Given the description of an element on the screen output the (x, y) to click on. 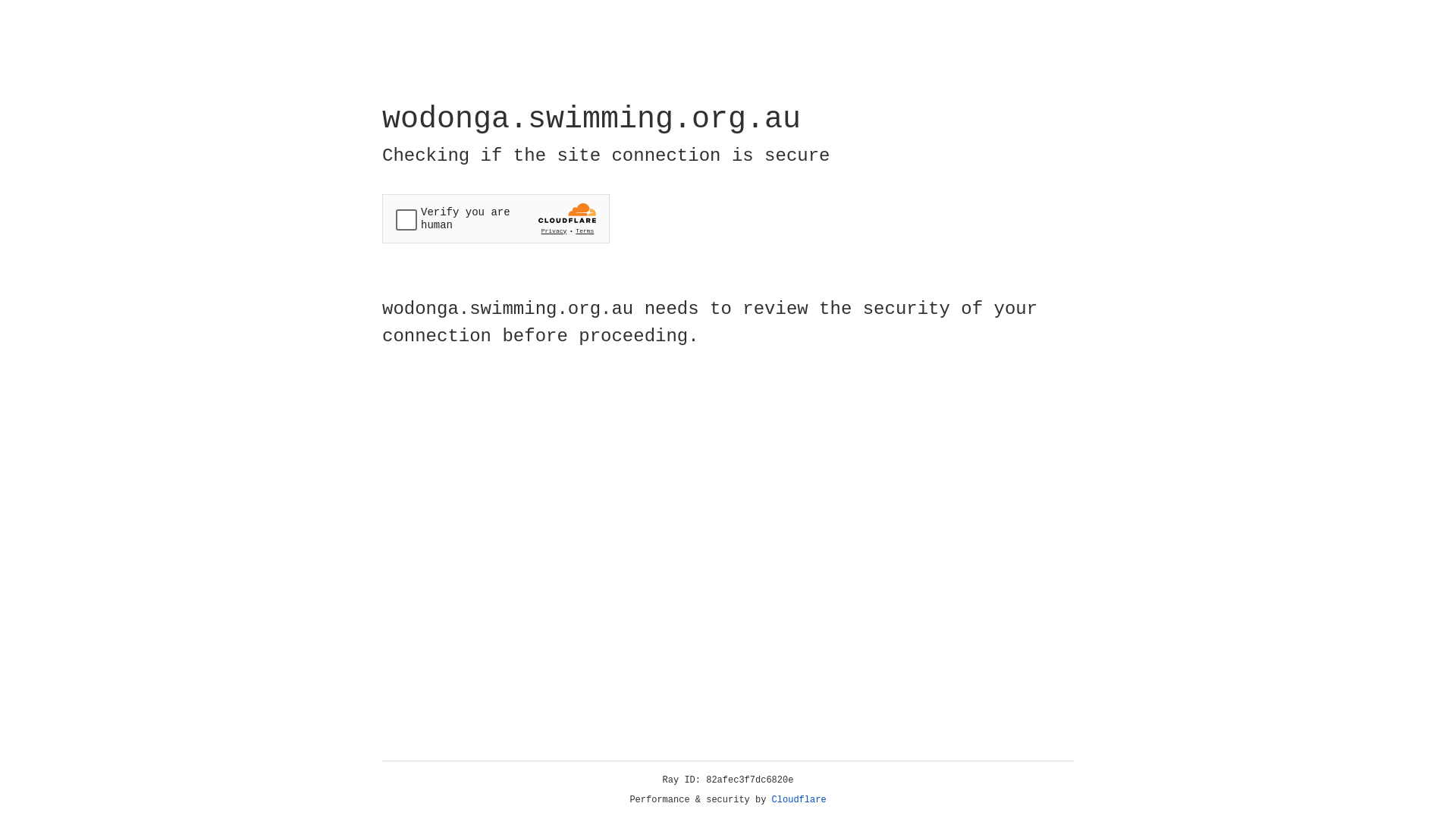
Widget containing a Cloudflare security challenge Element type: hover (495, 218)
Cloudflare Element type: text (798, 799)
